Given the description of an element on the screen output the (x, y) to click on. 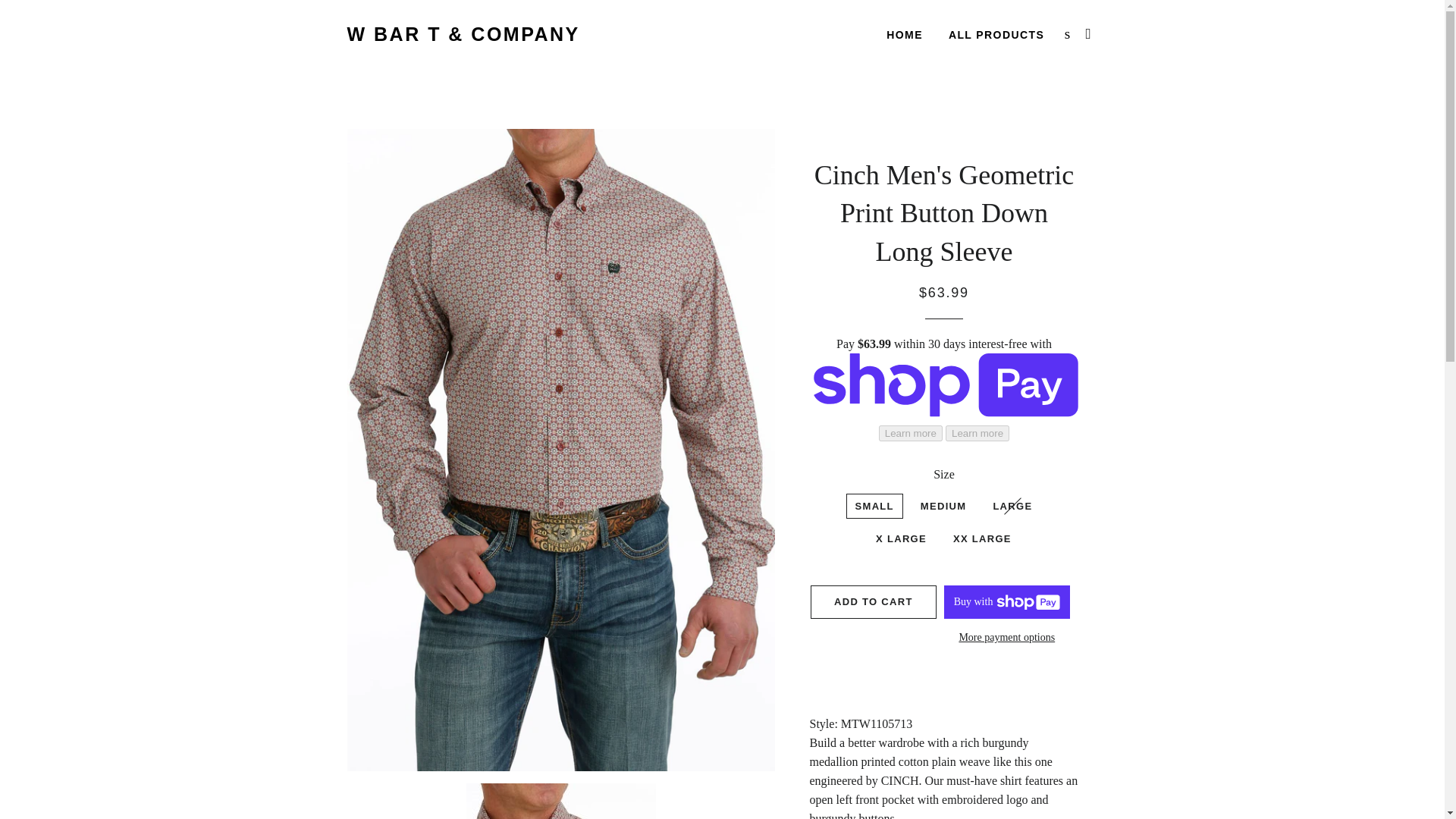
More payment options (1006, 637)
HOME (904, 35)
ADD TO CART (873, 602)
ALL PRODUCTS (996, 35)
